Given the description of an element on the screen output the (x, y) to click on. 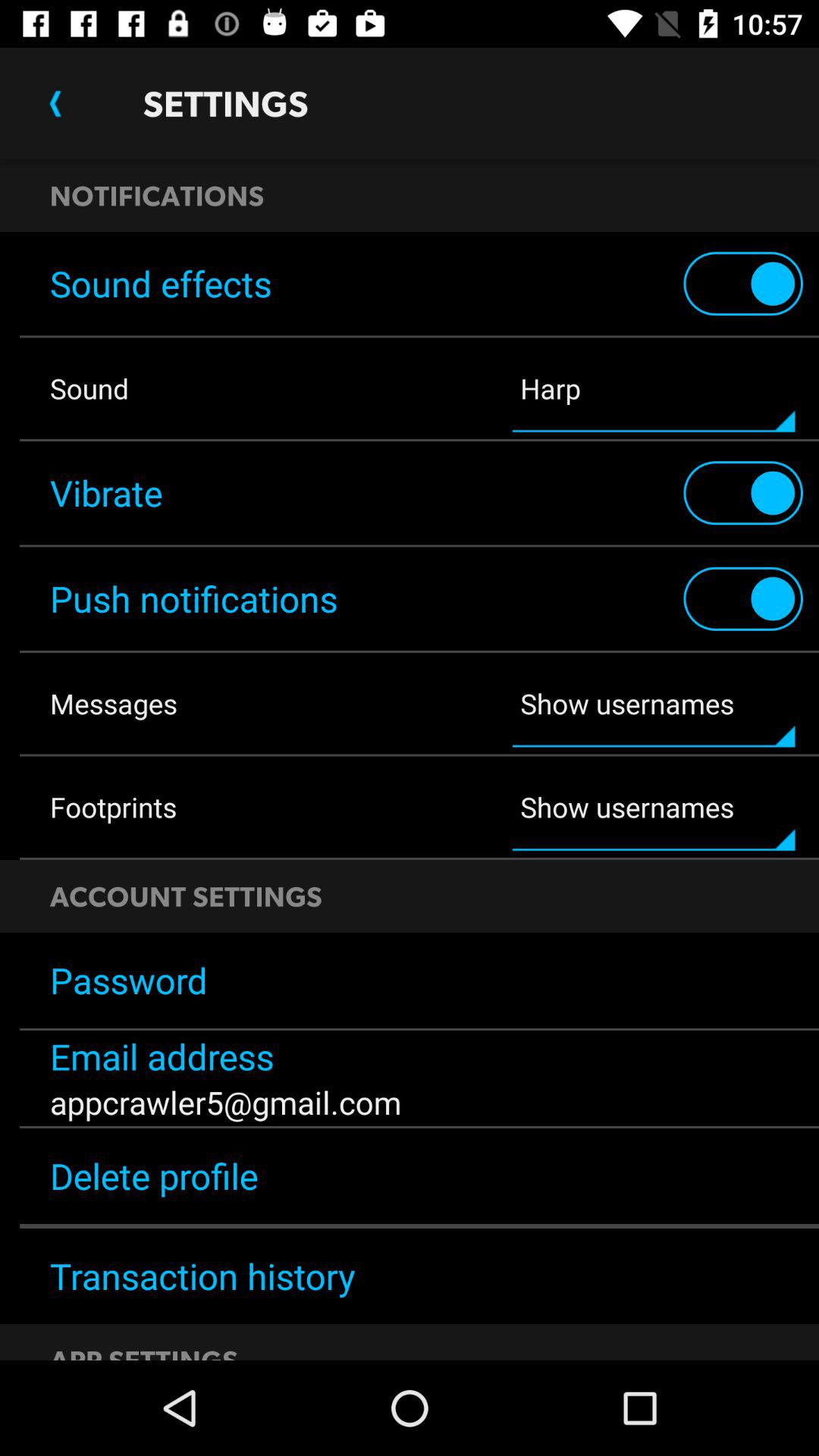
click the password item (409, 980)
